Given the description of an element on the screen output the (x, y) to click on. 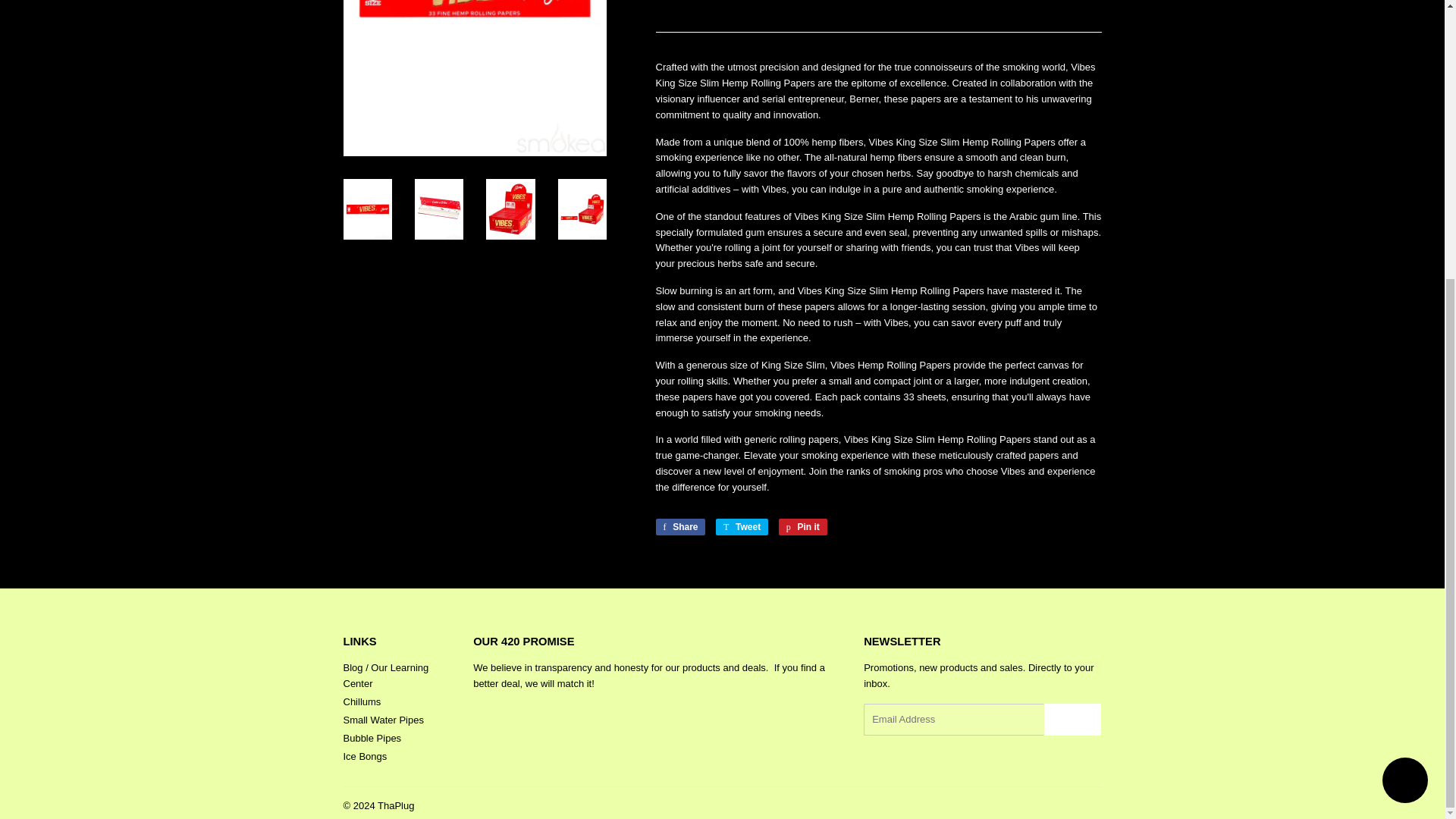
Shopify online store chat (1404, 368)
Tweet on Twitter (742, 526)
Pin on Pinterest (802, 526)
Share on Facebook (679, 526)
